Given the description of an element on the screen output the (x, y) to click on. 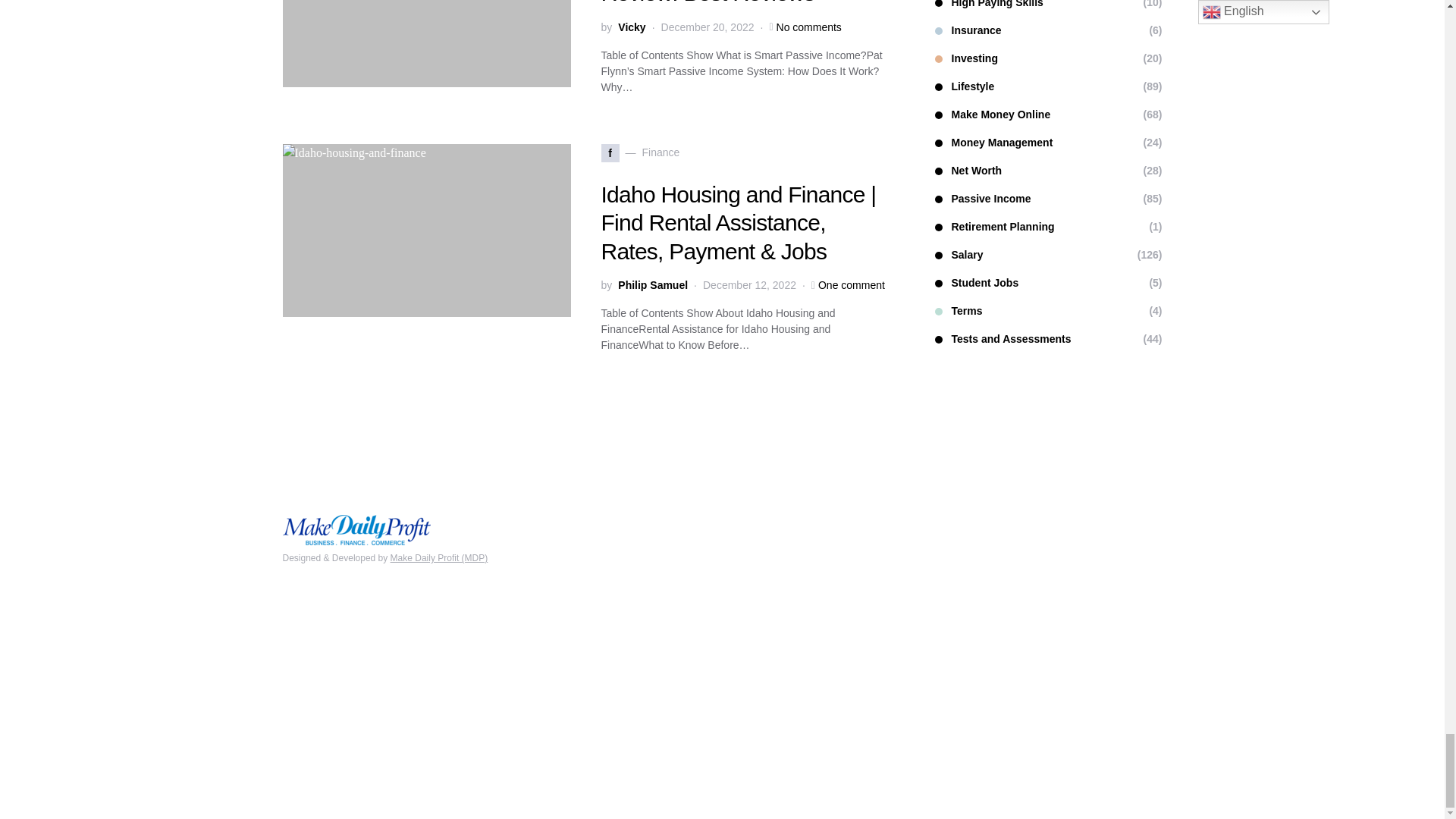
View all posts by Philip Samuel (652, 285)
View all posts by Vicky (631, 27)
